Given the description of an element on the screen output the (x, y) to click on. 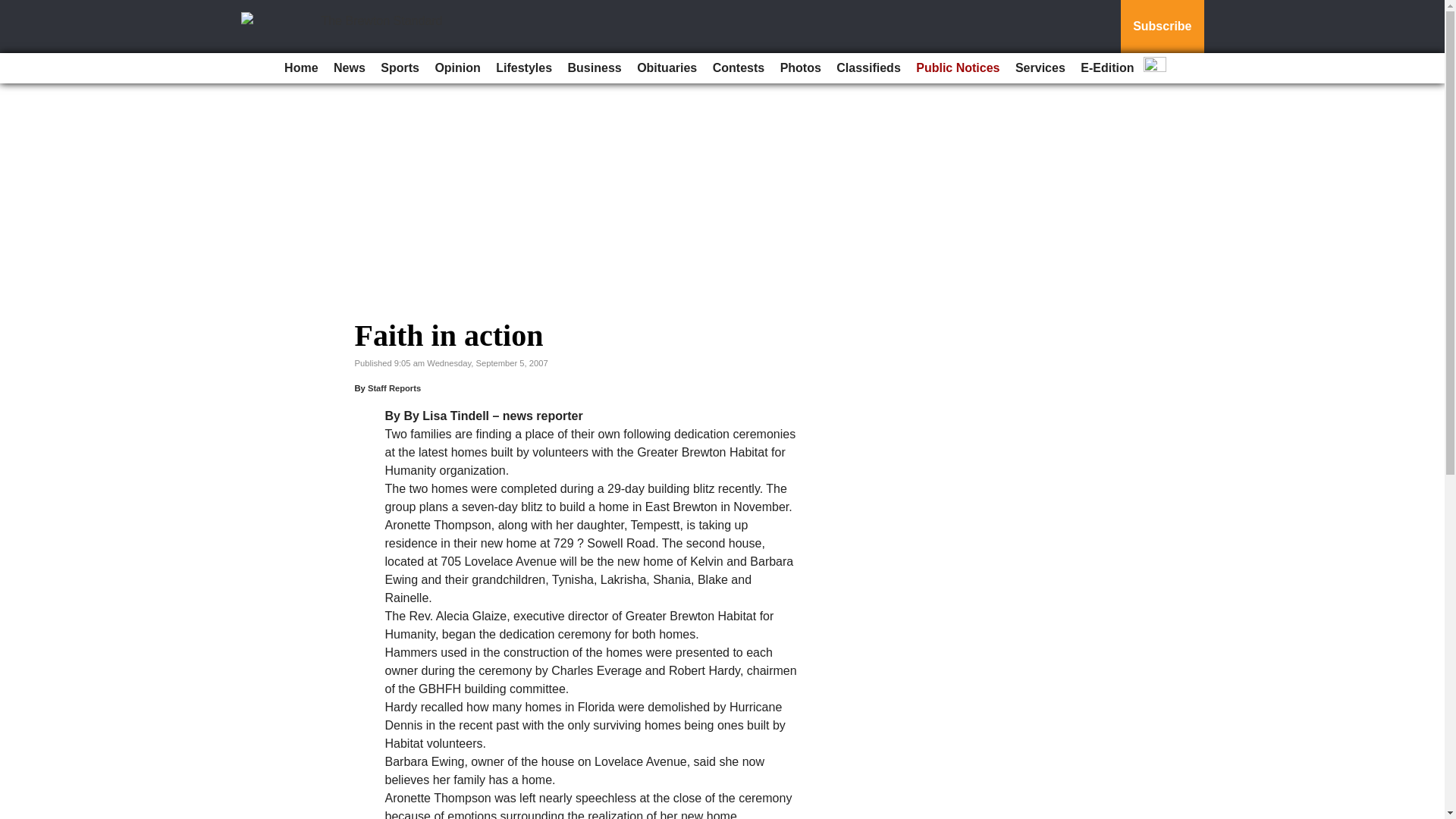
Obituaries (666, 68)
Subscribe (1162, 26)
Home (300, 68)
Public Notices (958, 68)
Staff Reports (394, 388)
Sports (399, 68)
Go (13, 9)
Business (594, 68)
Classifieds (867, 68)
E-Edition (1107, 68)
